Given the description of an element on the screen output the (x, y) to click on. 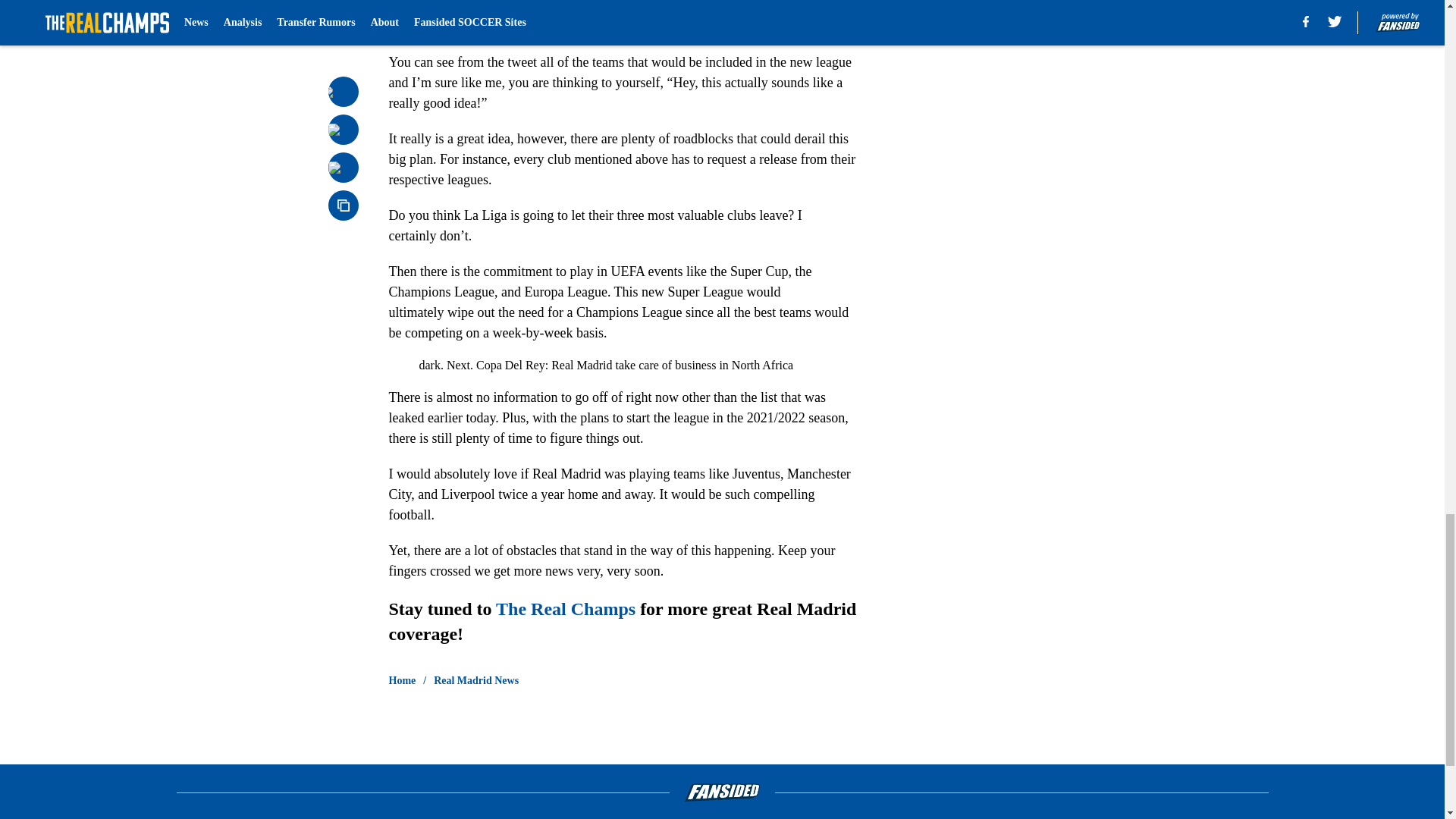
Masthead (535, 817)
The Real Champs (565, 608)
Home (401, 680)
November 2, 2018 (655, 17)
Contact (861, 817)
Real Madrid News (475, 680)
Openings (724, 817)
About (370, 817)
